Given the description of an element on the screen output the (x, y) to click on. 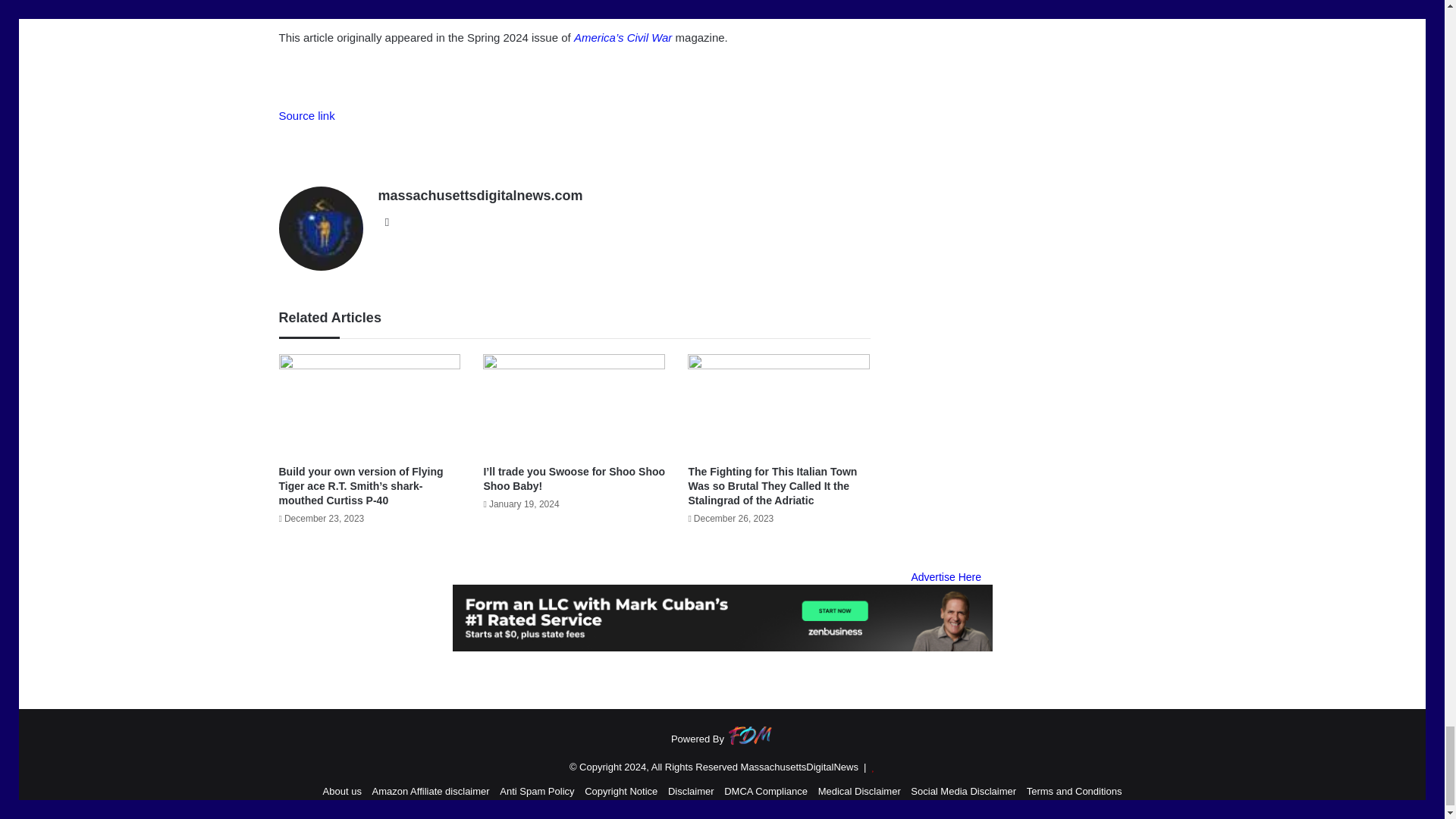
massachusettsdigitalnews.com (479, 195)
Website (386, 221)
Source link (306, 115)
